Given the description of an element on the screen output the (x, y) to click on. 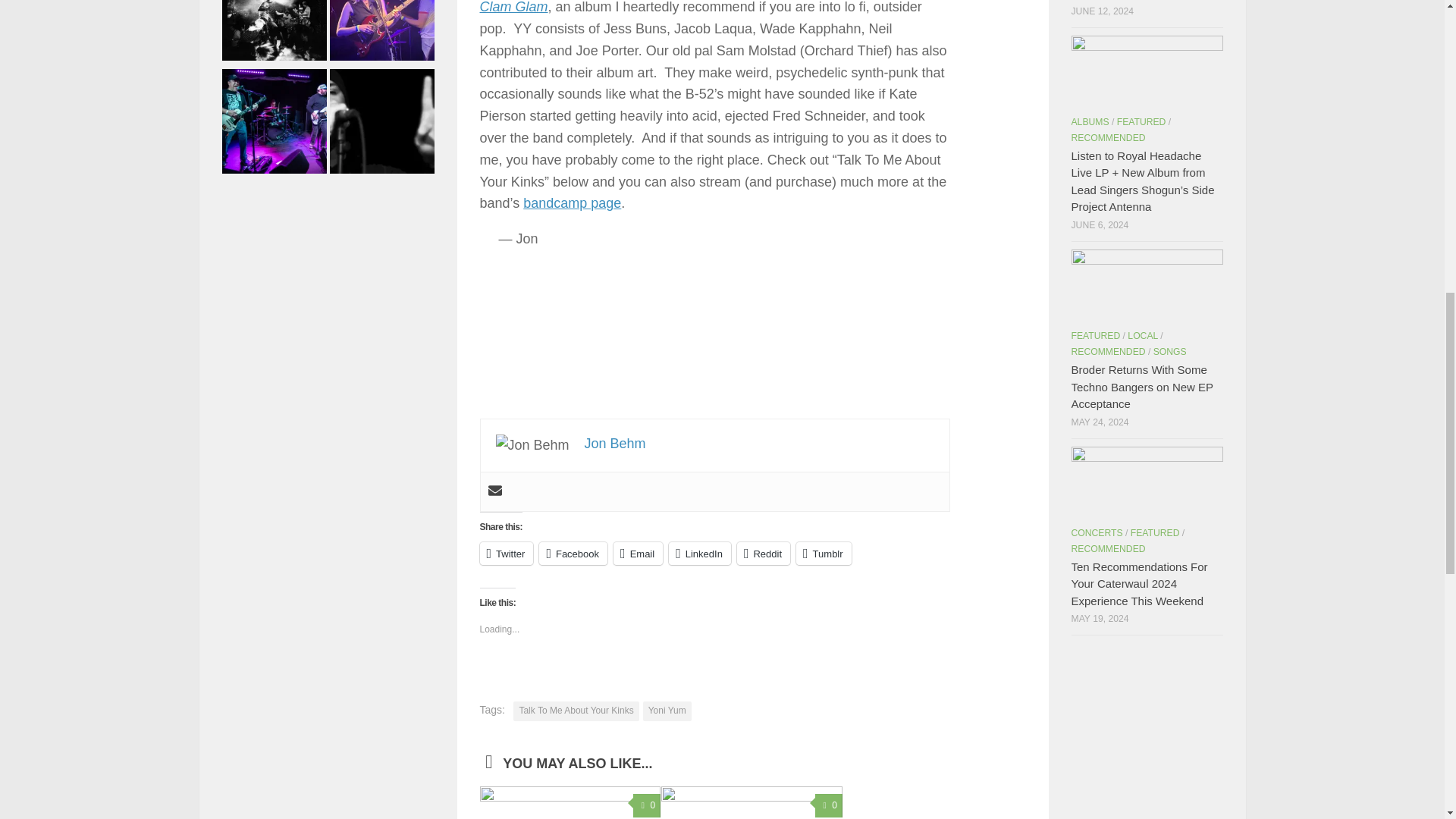
Click to share on Twitter (505, 553)
Click to share on Reddit (763, 553)
Click to share on Facebook (572, 553)
bandcamp page (571, 202)
Click to share on LinkedIn (699, 553)
Twitter (505, 553)
Click to email a link to a friend (637, 553)
Click to share on Tumblr (823, 553)
Clam Glam (513, 7)
Jon Behm (615, 443)
